Given the description of an element on the screen output the (x, y) to click on. 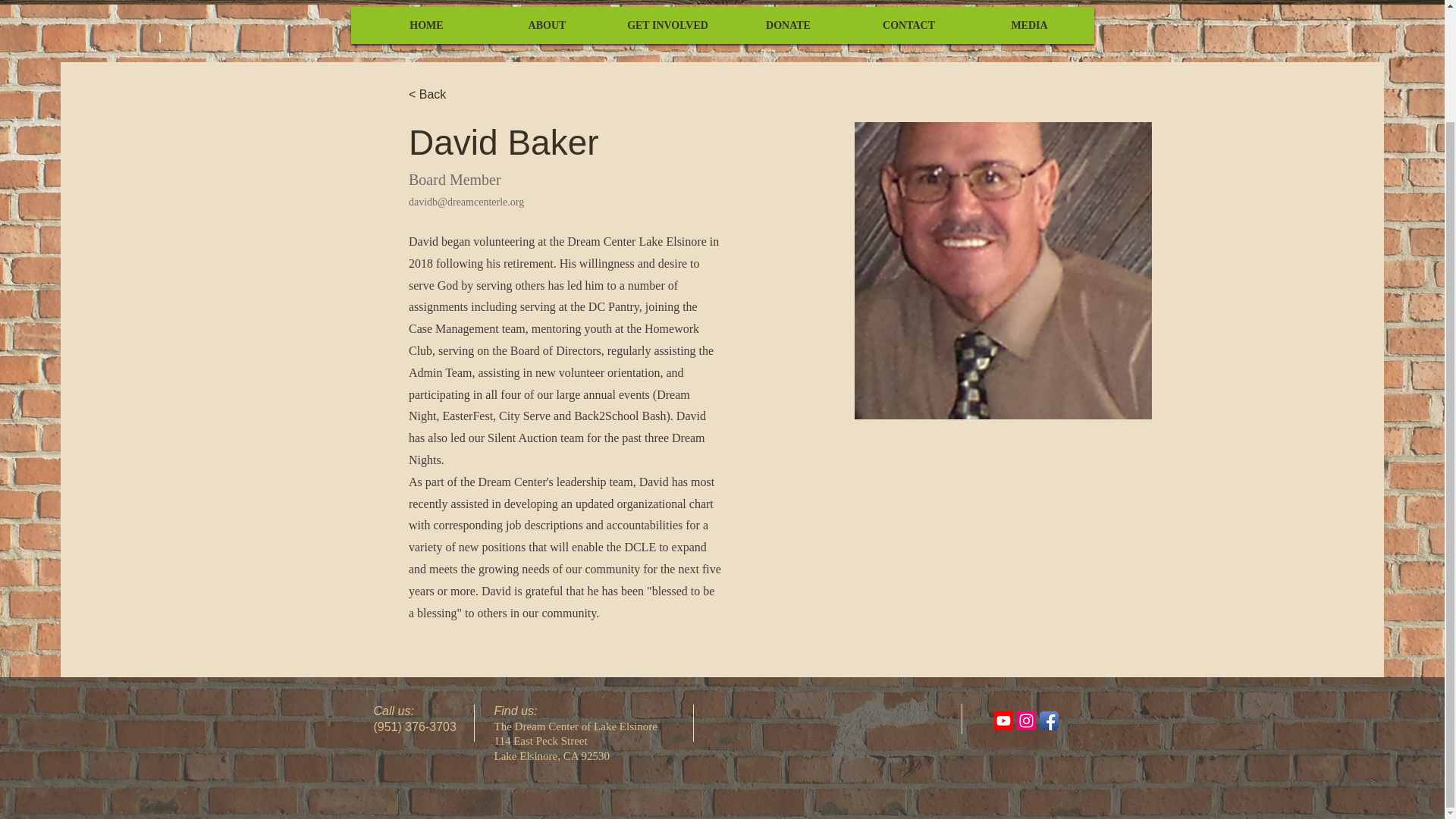
David Baker headshot.png (1002, 270)
CONTACT (907, 25)
DCLE Logo good.png (721, 2)
HOME (425, 25)
